Given the description of an element on the screen output the (x, y) to click on. 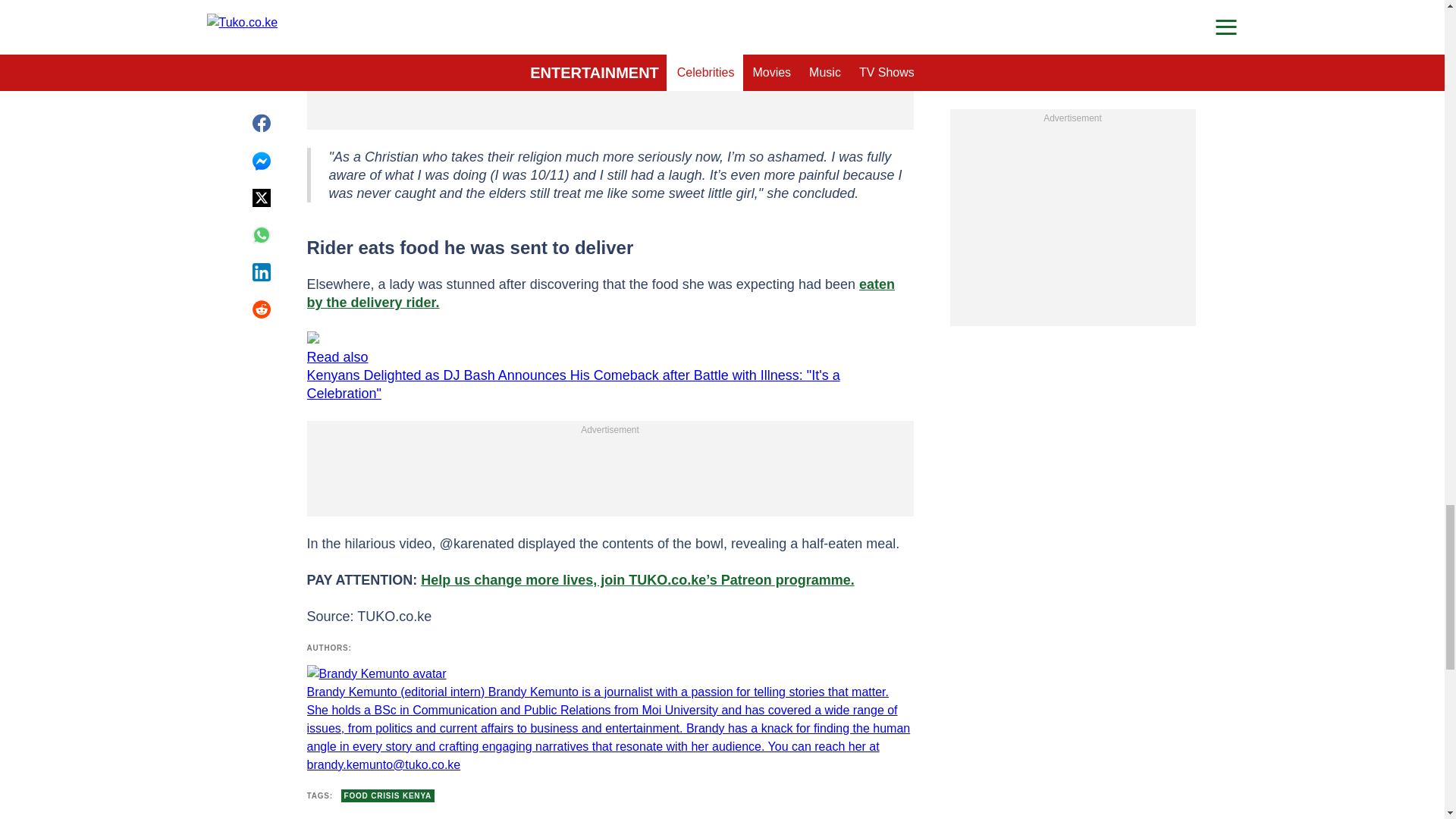
Author page (608, 719)
